Given the description of an element on the screen output the (x, y) to click on. 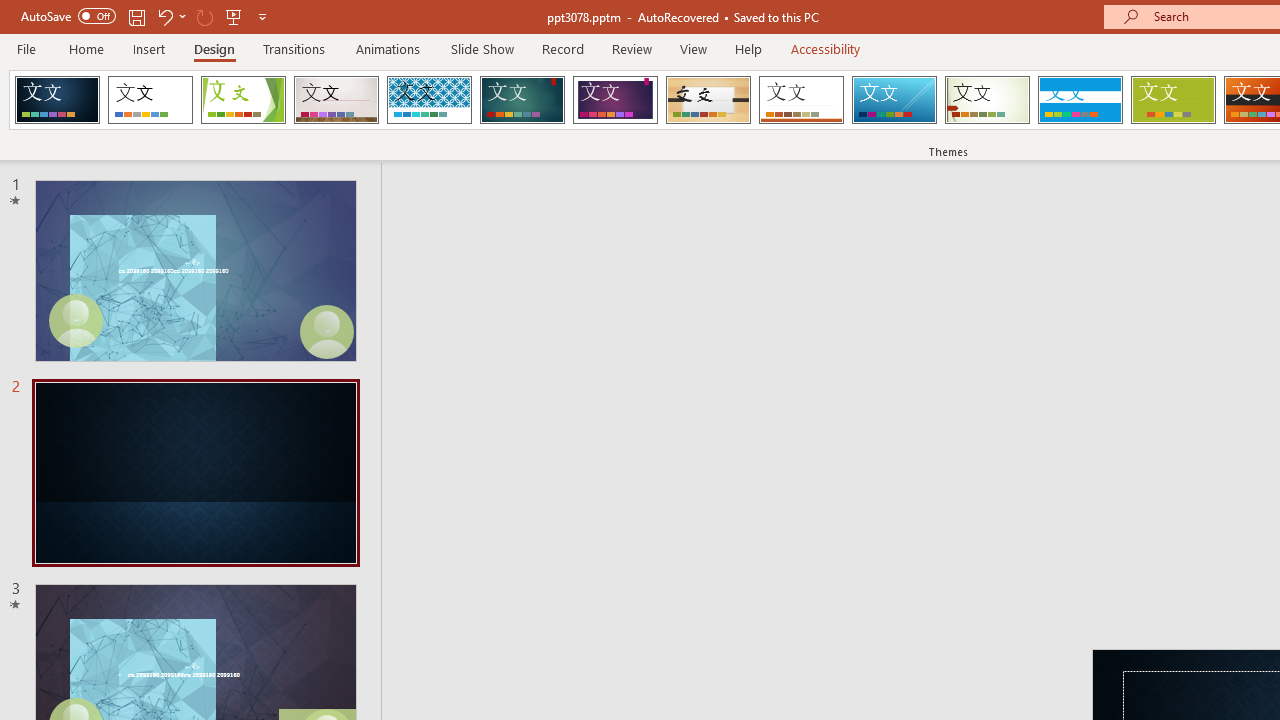
Office Theme (150, 100)
Wisp (987, 100)
Ion Boardroom (615, 100)
